Given the description of an element on the screen output the (x, y) to click on. 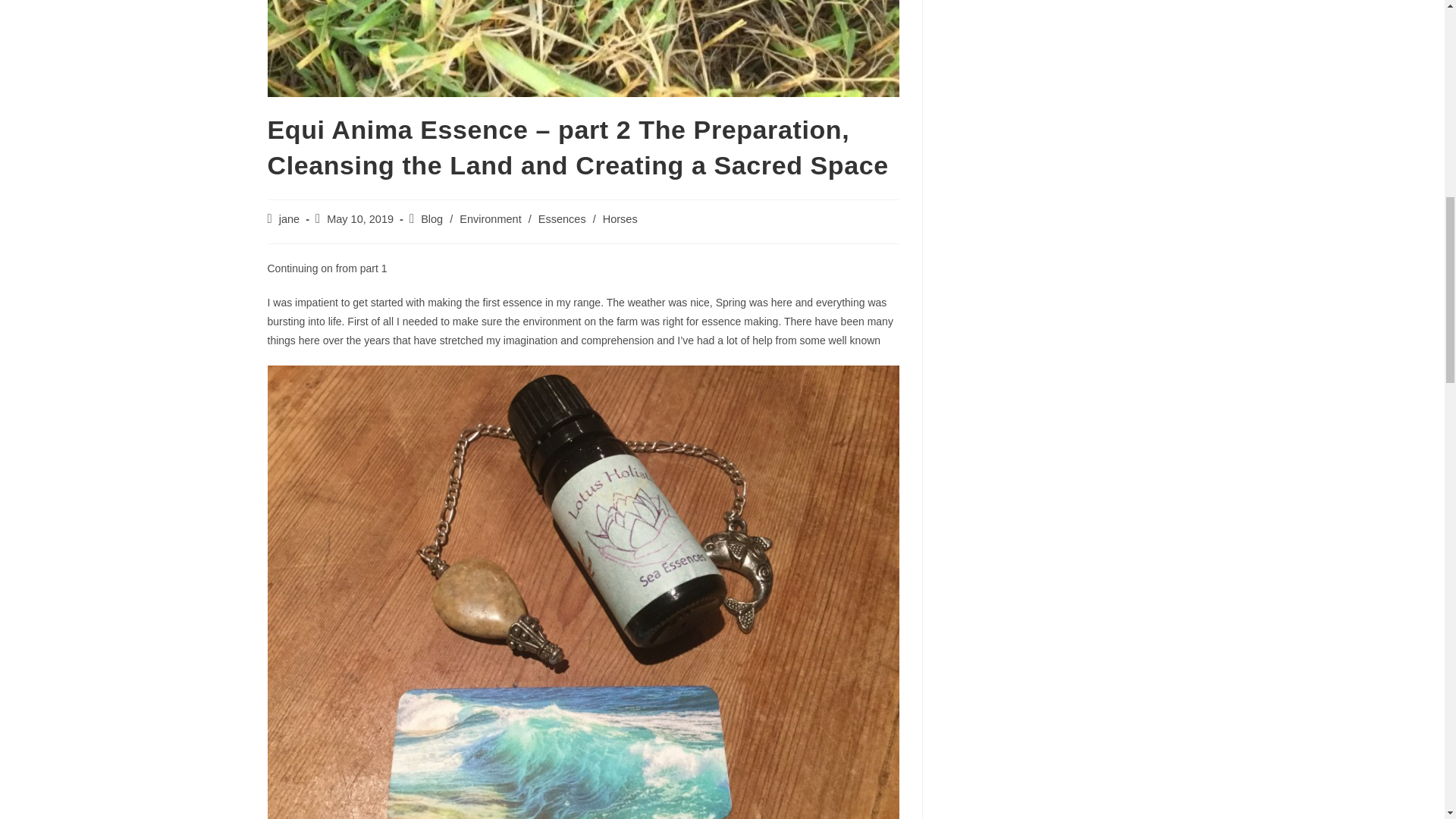
Posts by jane (289, 218)
